Given the description of an element on the screen output the (x, y) to click on. 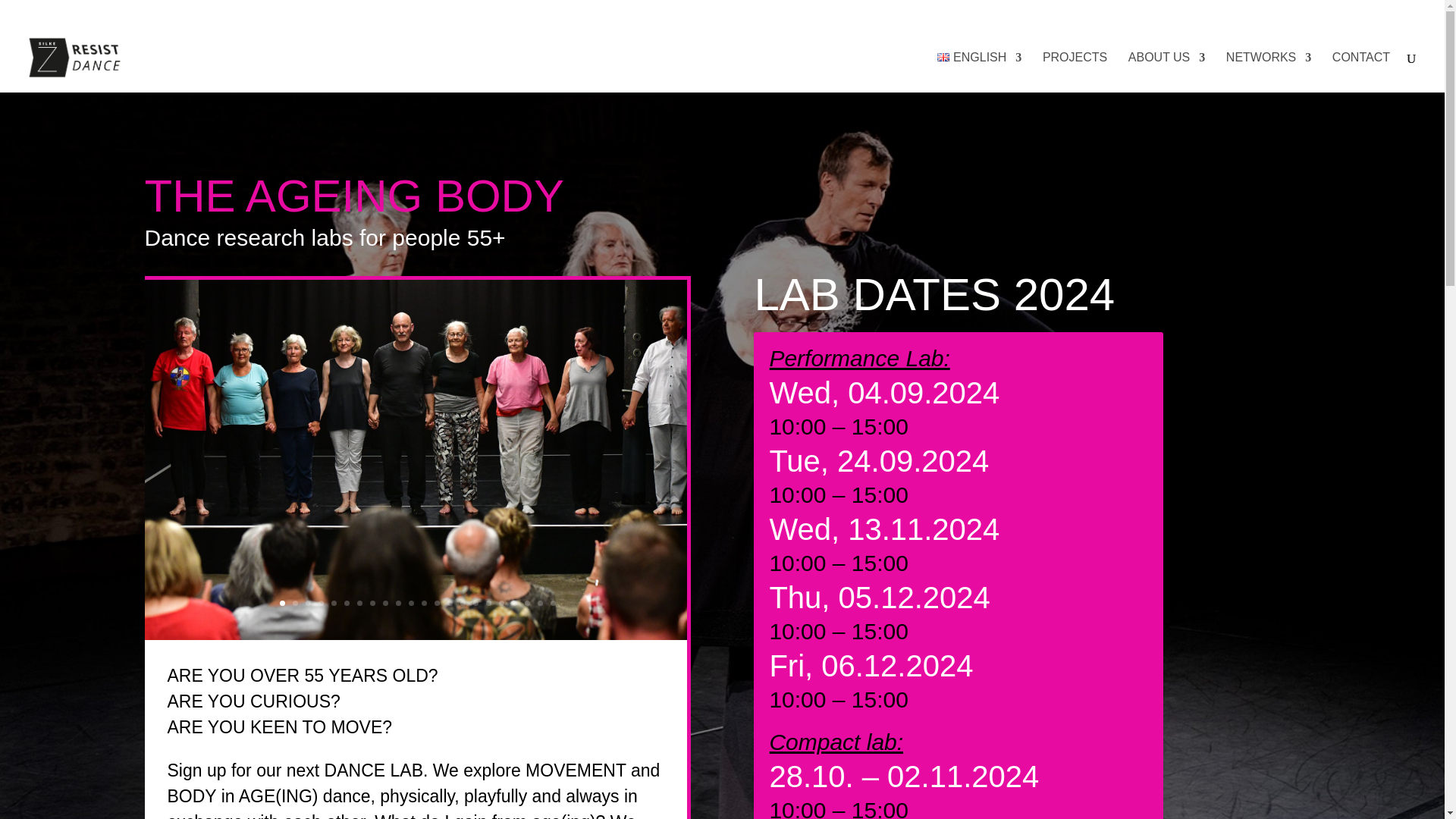
ENGLISH (979, 72)
16 (414, 641)
ABOUT US (1166, 72)
CONTACT (1361, 72)
PROJECTS (1074, 72)
NETWORKS (1268, 72)
